Given the description of an element on the screen output the (x, y) to click on. 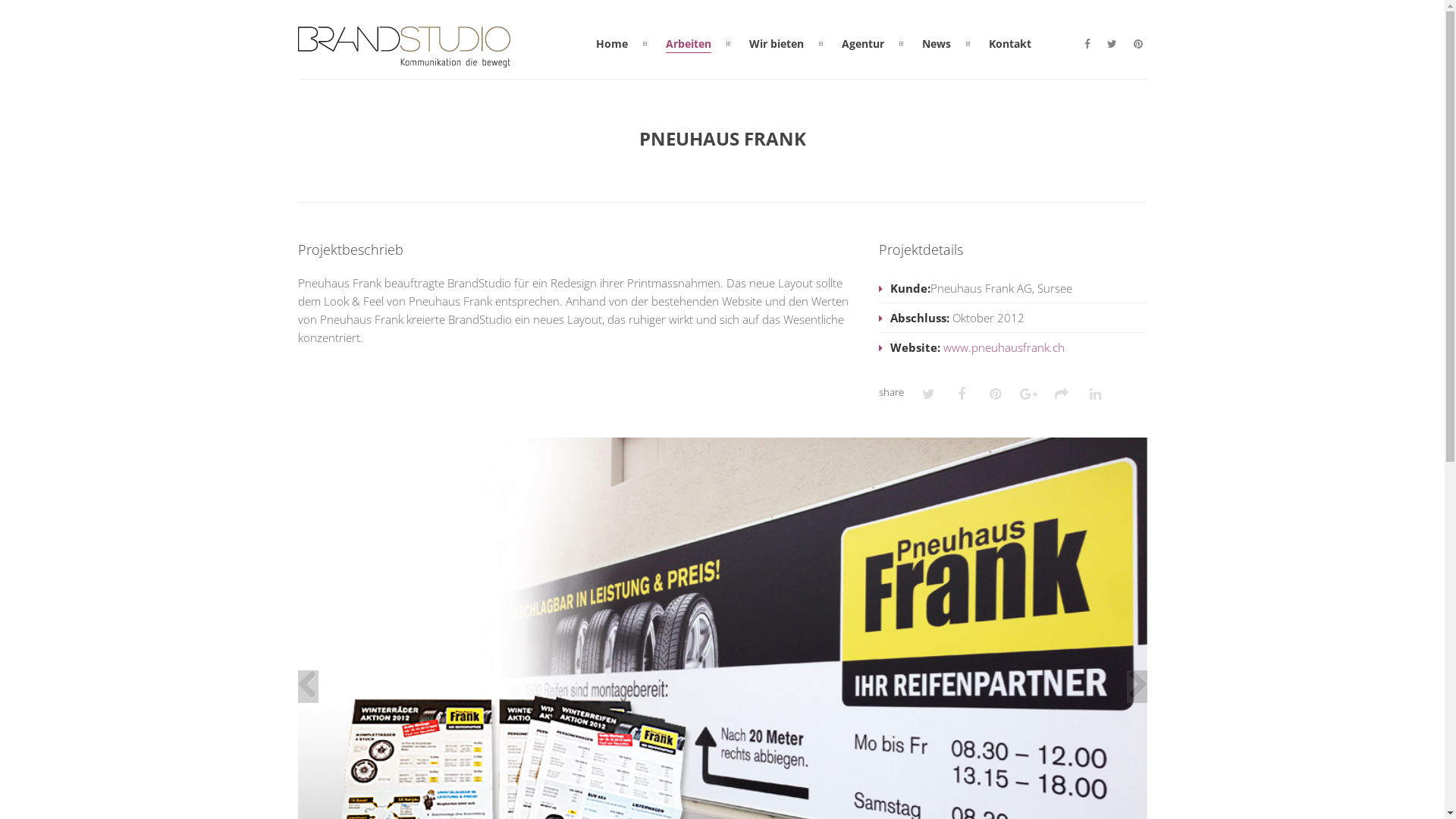
BrandStudio GmbH | Kommunikation die bewegt. Element type: hover (403, 57)
pinterest Element type: hover (1137, 43)
twitter Element type: hover (1111, 43)
News Element type: text (936, 43)
Wir bieten Element type: text (776, 43)
Previous Element type: text (307, 686)
www.pneuhausfrank.ch Element type: text (1003, 346)
Home Element type: text (611, 43)
Next Element type: text (1136, 686)
Agentur Element type: text (862, 43)
facebook Element type: hover (1087, 43)
Arbeiten Element type: text (688, 43)
Kontakt Element type: text (1009, 43)
